Given the description of an element on the screen output the (x, y) to click on. 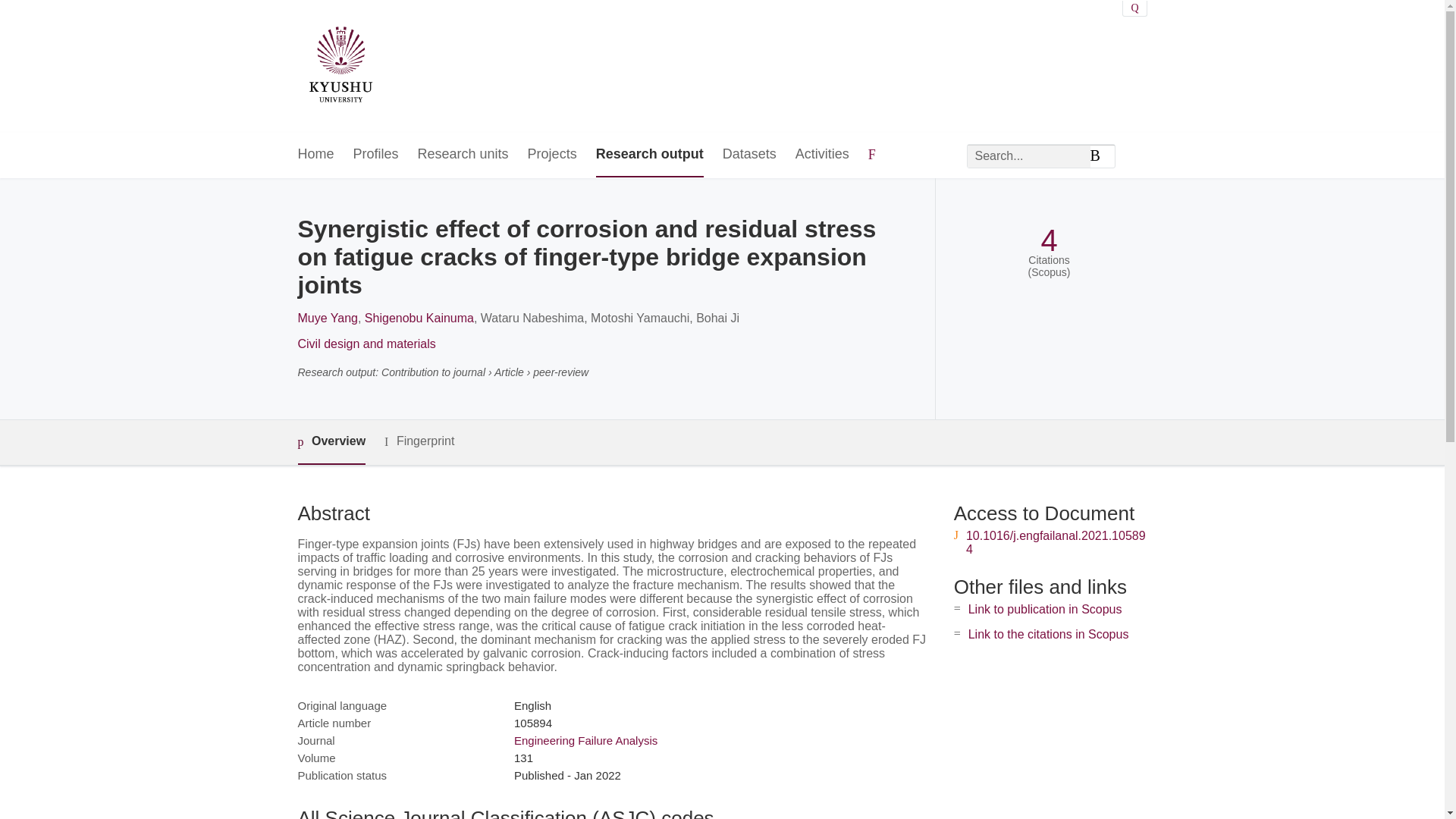
Research output (649, 154)
Profiles (375, 154)
Muye Yang (326, 318)
Research units (462, 154)
Engineering Failure Analysis (585, 739)
Activities (821, 154)
Datasets (749, 154)
Fingerprint (419, 441)
Link to publication in Scopus (1045, 608)
